Given the description of an element on the screen output the (x, y) to click on. 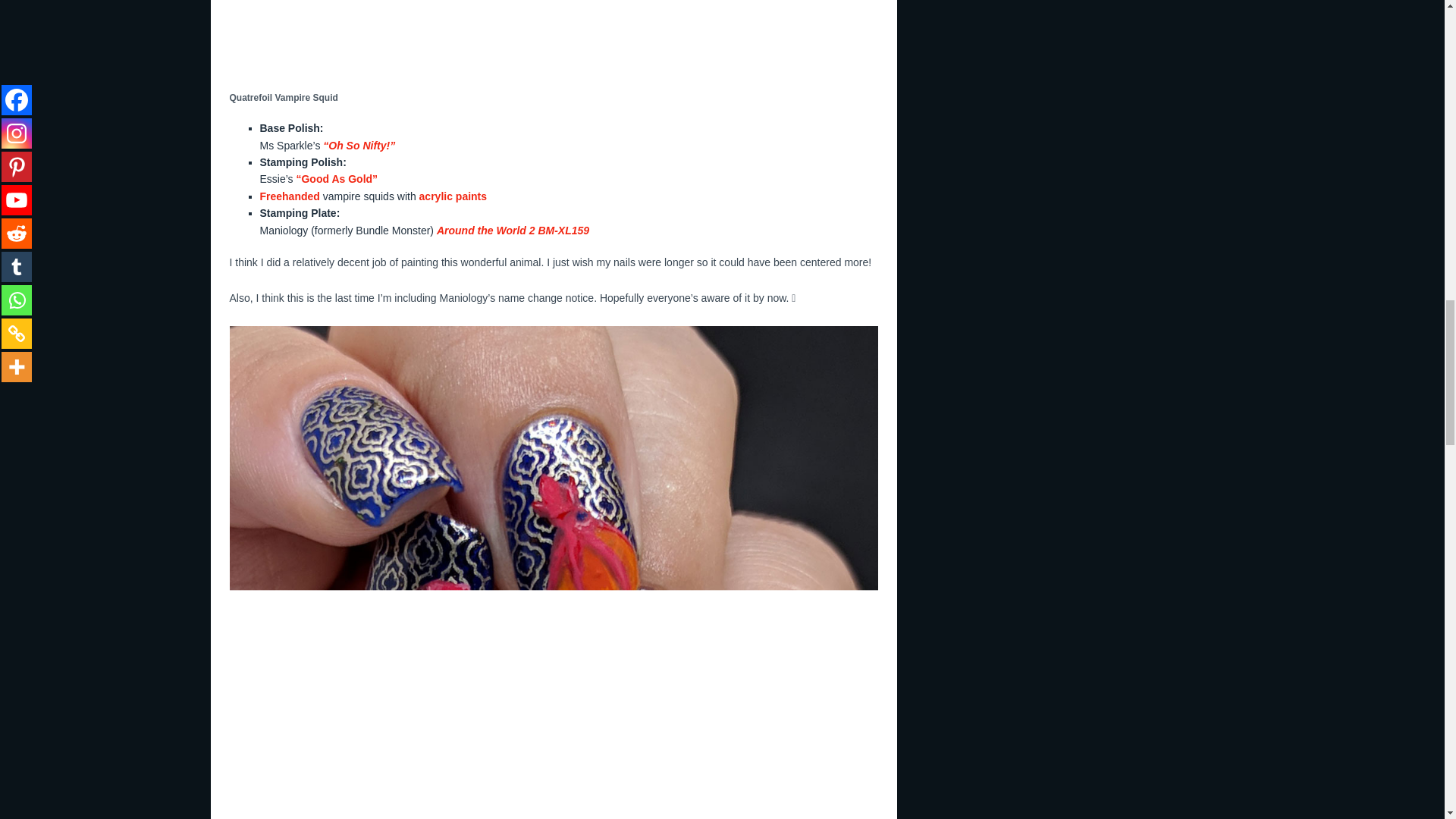
Around the World 2 BM-XL159 (512, 230)
acrylic paints (453, 196)
Freehanded (288, 196)
